Given the description of an element on the screen output the (x, y) to click on. 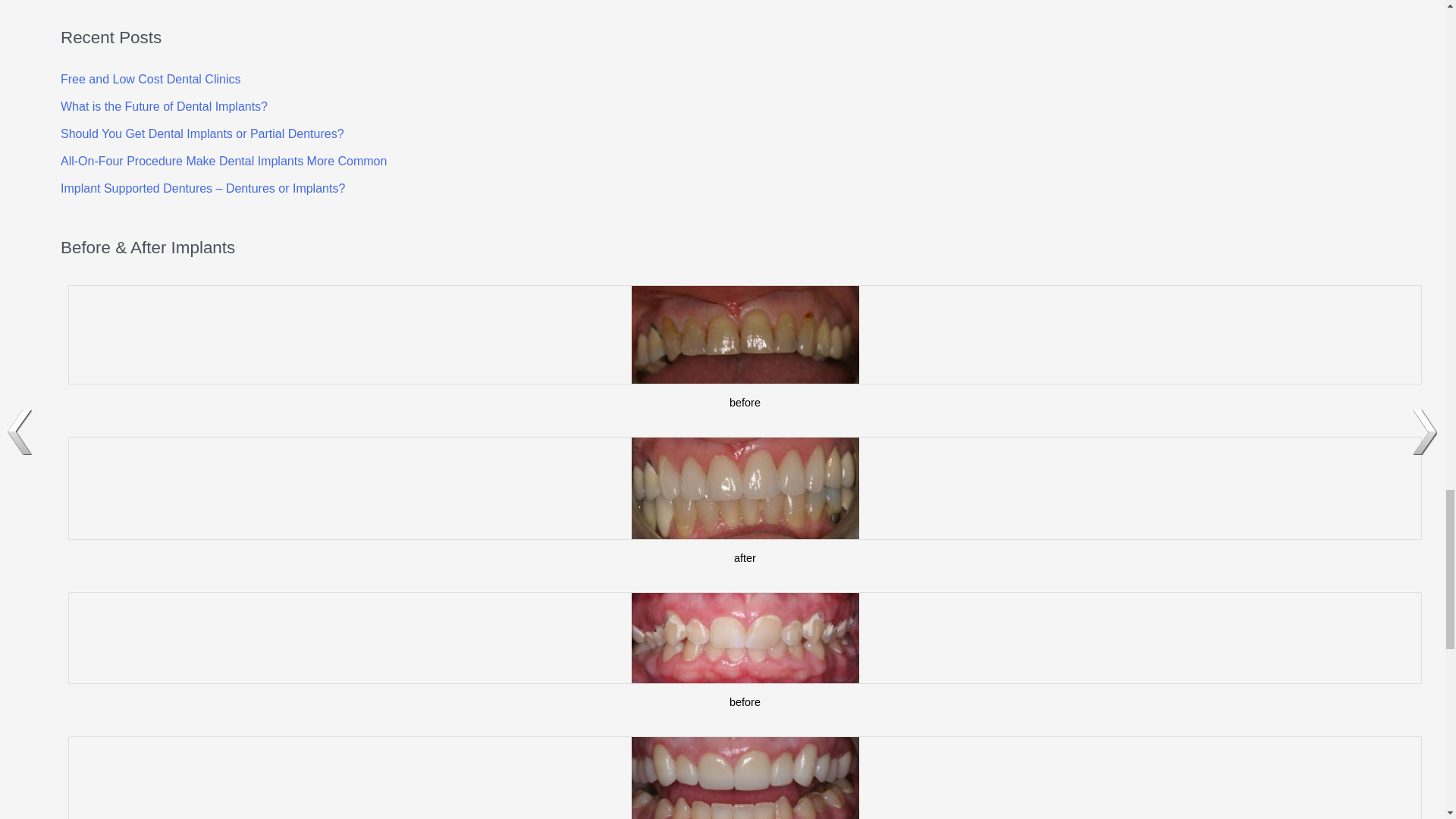
All-On-Four Procedure Make Dental Implants More Common (224, 160)
Free and Low Cost Dental Clinics (150, 78)
What is the Future of Dental Implants? (164, 106)
Should You Get Dental Implants or Partial Dentures? (202, 133)
